Given the description of an element on the screen output the (x, y) to click on. 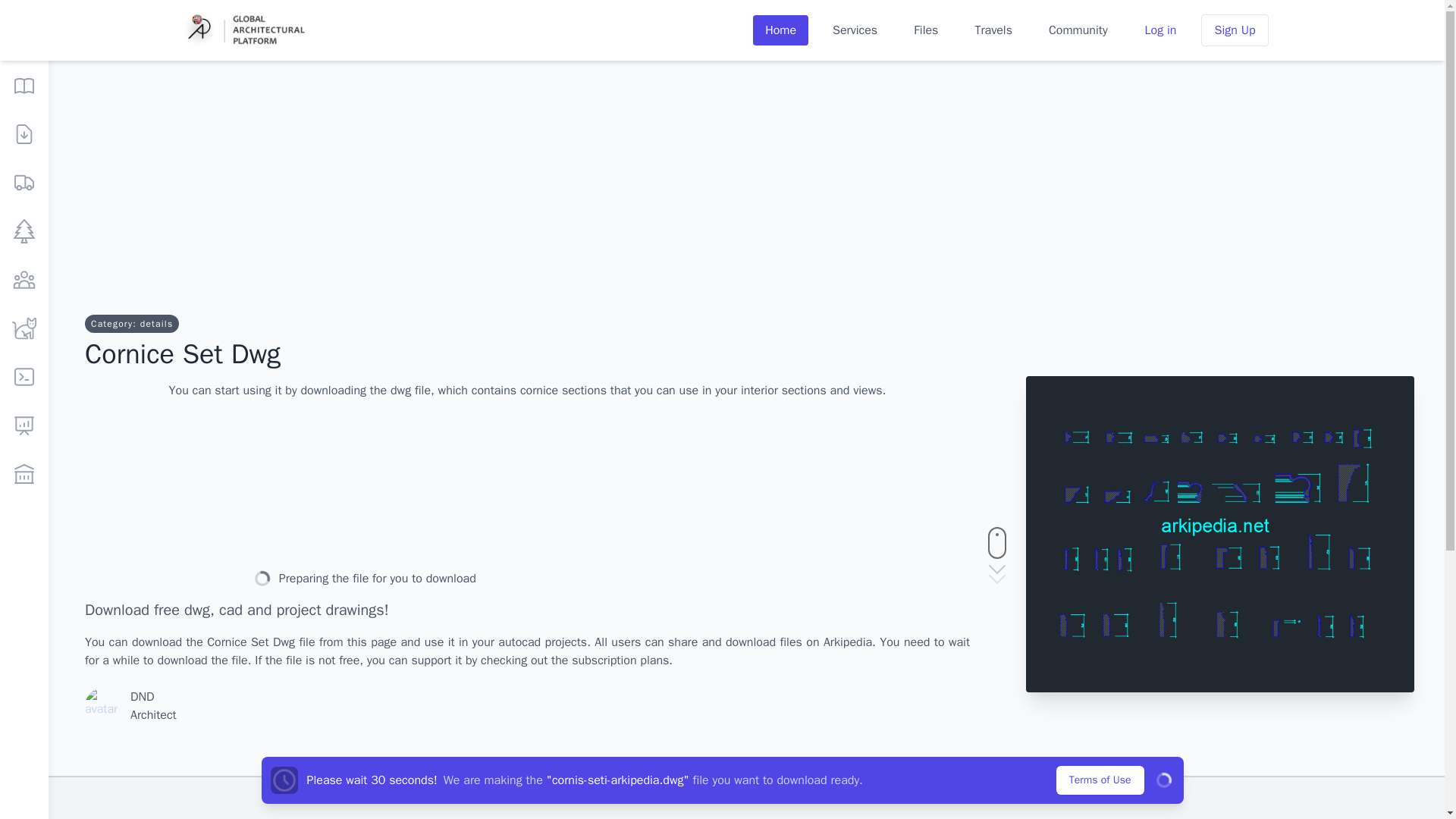
Travels (993, 30)
Files (925, 30)
Home (780, 30)
Community (1077, 30)
Ok (1163, 779)
Preparing the file for you to download (366, 578)
details (156, 323)
Terms of Use (1100, 779)
Services (855, 30)
Sign Up (1234, 29)
